Given the description of an element on the screen output the (x, y) to click on. 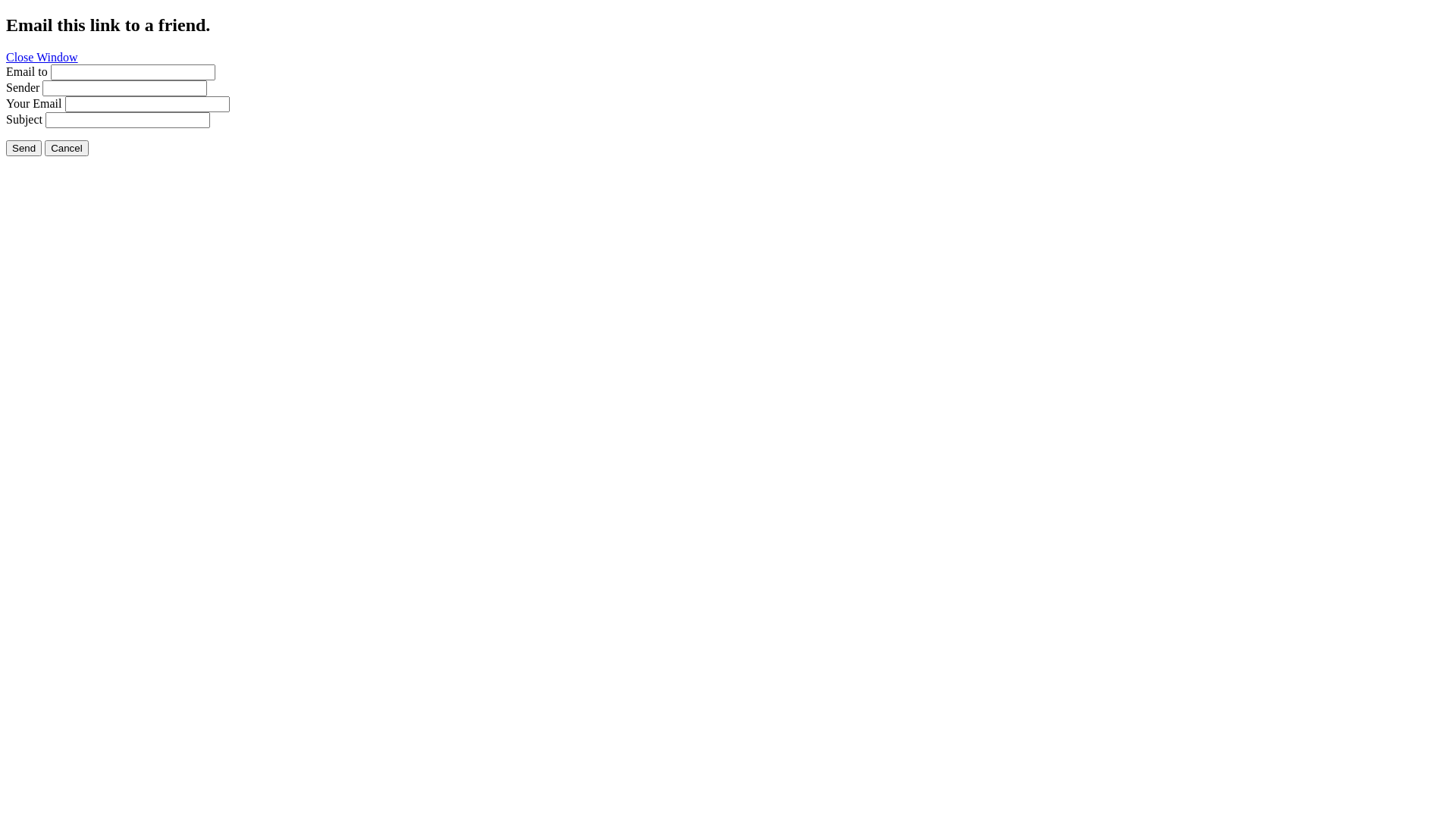
Cancel Element type: text (66, 148)
Send Element type: text (23, 148)
Close Window Element type: text (42, 56)
